Given the description of an element on the screen output the (x, y) to click on. 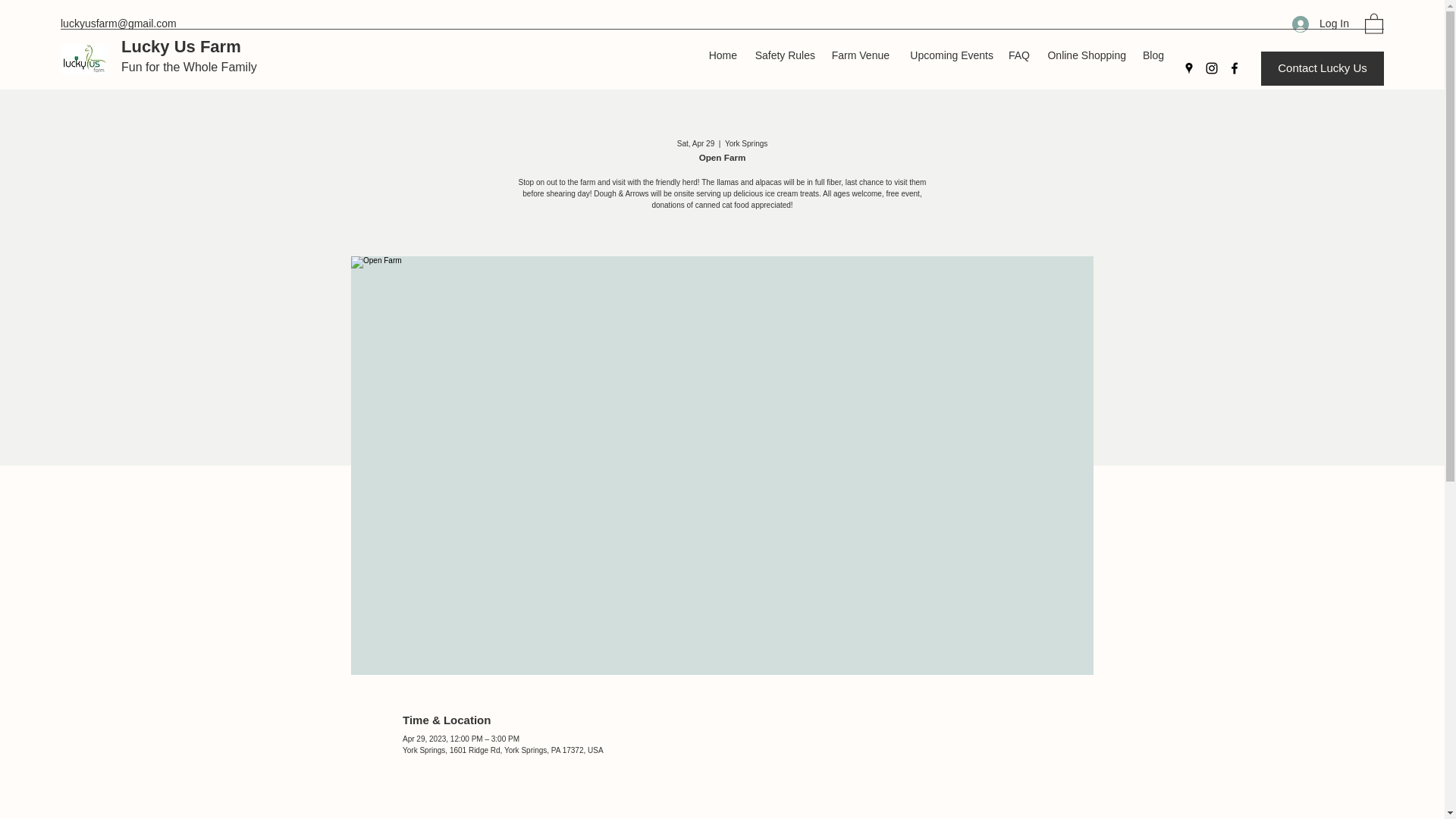
FAQ (1018, 55)
Contact Lucky Us (1322, 68)
Blog (1153, 55)
Farm Venue (859, 55)
Safety Rules (783, 55)
Online Shopping (1084, 55)
Log In (1320, 23)
Home (722, 55)
Upcoming Events (948, 55)
Lucky Us Farm (180, 46)
